Given the description of an element on the screen output the (x, y) to click on. 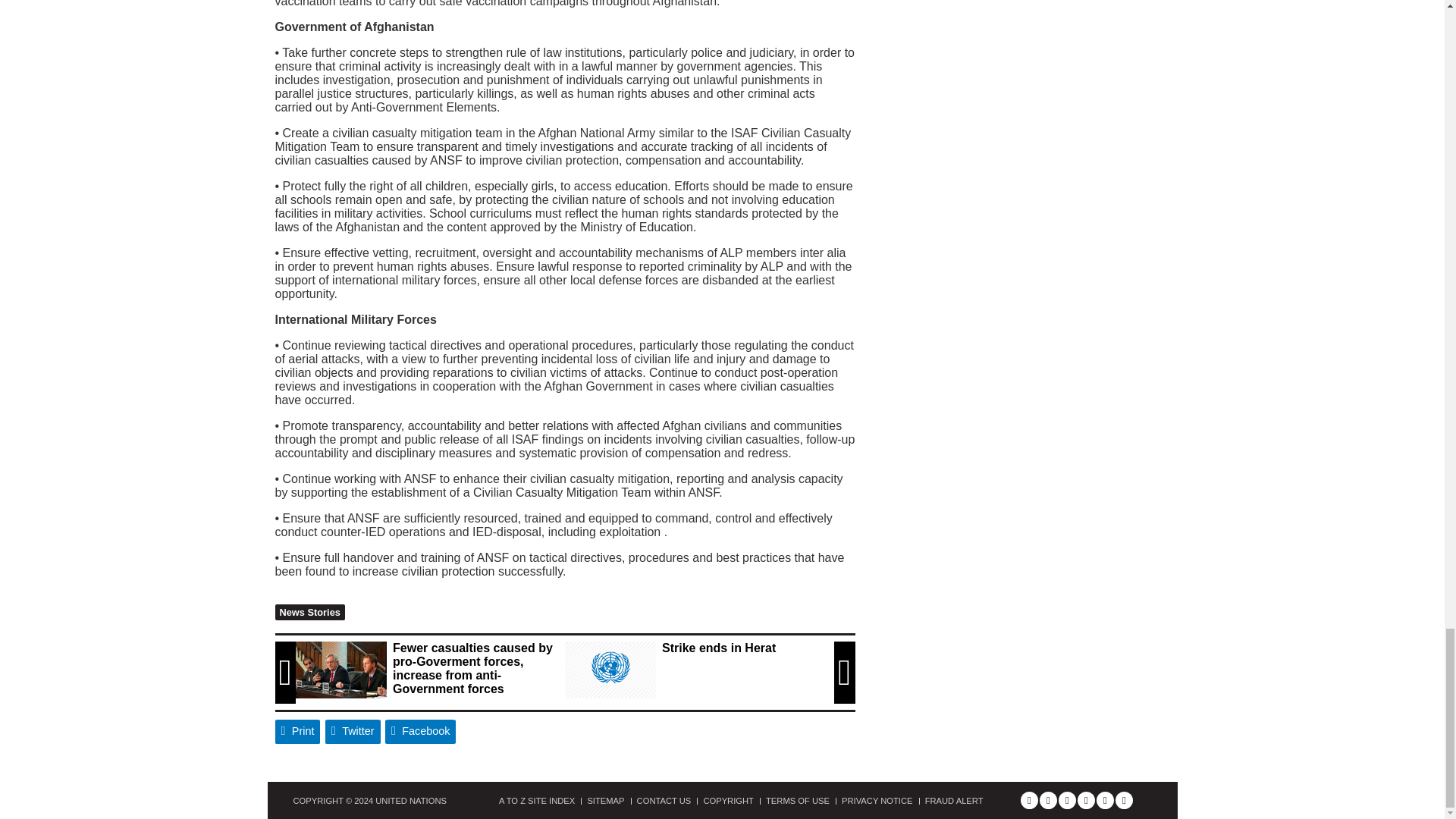
Print (297, 731)
Twitter (352, 731)
Strike ends in Herat (610, 669)
Facebook (421, 731)
